Given the description of an element on the screen output the (x, y) to click on. 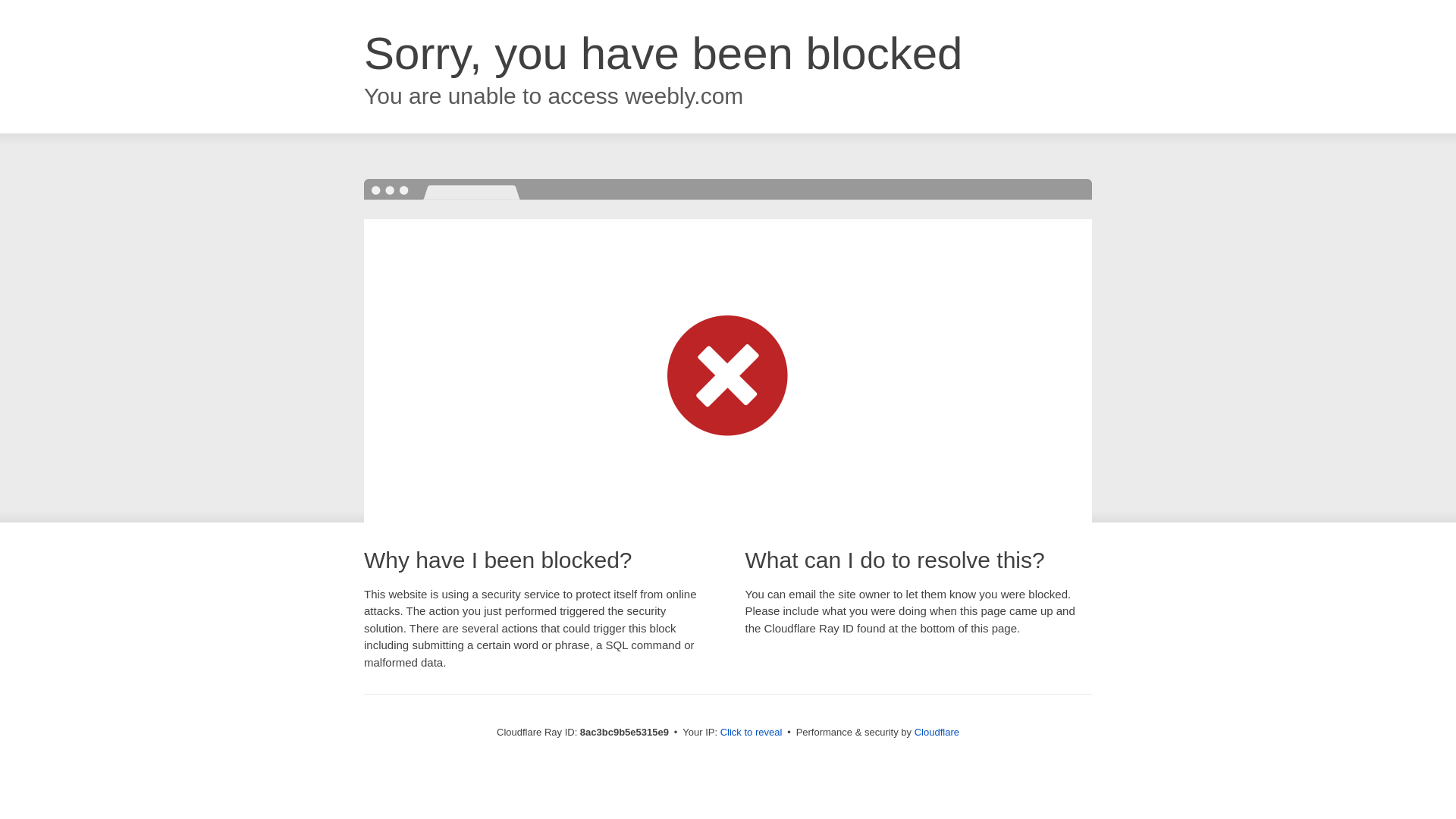
Click to reveal (751, 732)
Cloudflare (936, 731)
